Given the description of an element on the screen output the (x, y) to click on. 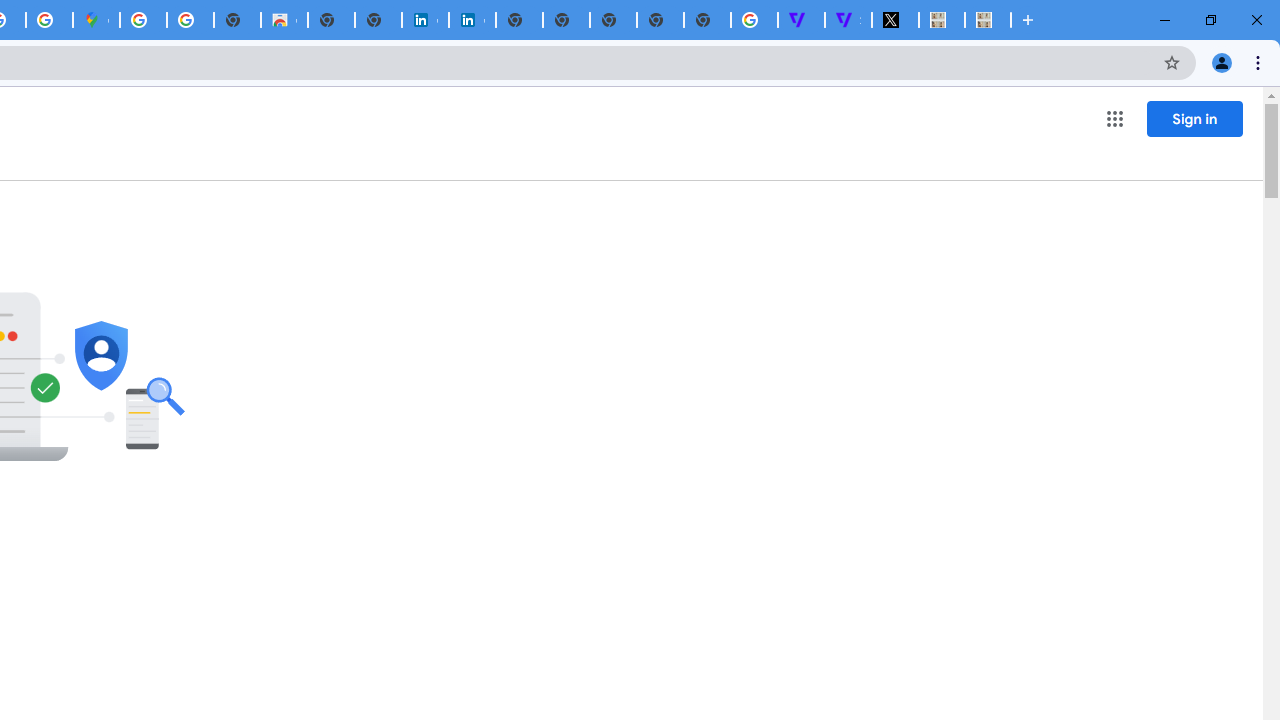
MILEY CYRUS. (942, 20)
Chrome Web Store (284, 20)
Cookie Policy | LinkedIn (425, 20)
New Tab (706, 20)
Cookie Policy | LinkedIn (472, 20)
Miley Cyrus (@MileyCyrus) / X (895, 20)
